Given the description of an element on the screen output the (x, y) to click on. 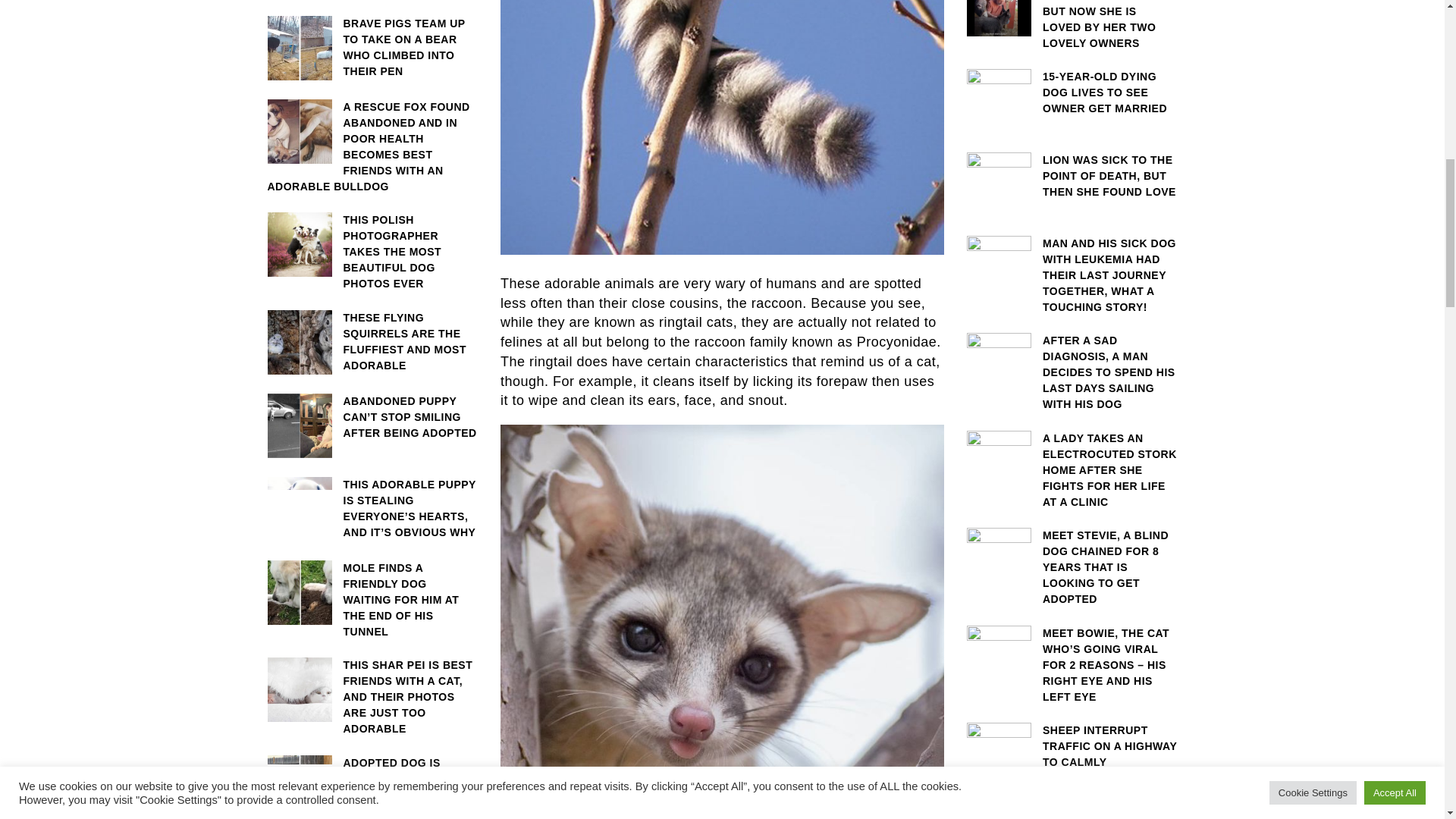
THESE FLYING SQUIRRELS ARE THE FLUFFIEST AND MOST ADORABLE (371, 341)
LION WAS SICK TO THE POINT OF DEATH, BUT THEN SHE FOUND LOVE (1071, 175)
15-YEAR-OLD DYING DOG LIVES TO SEE OWNER GET MARRIED (1071, 92)
